Given the description of an element on the screen output the (x, y) to click on. 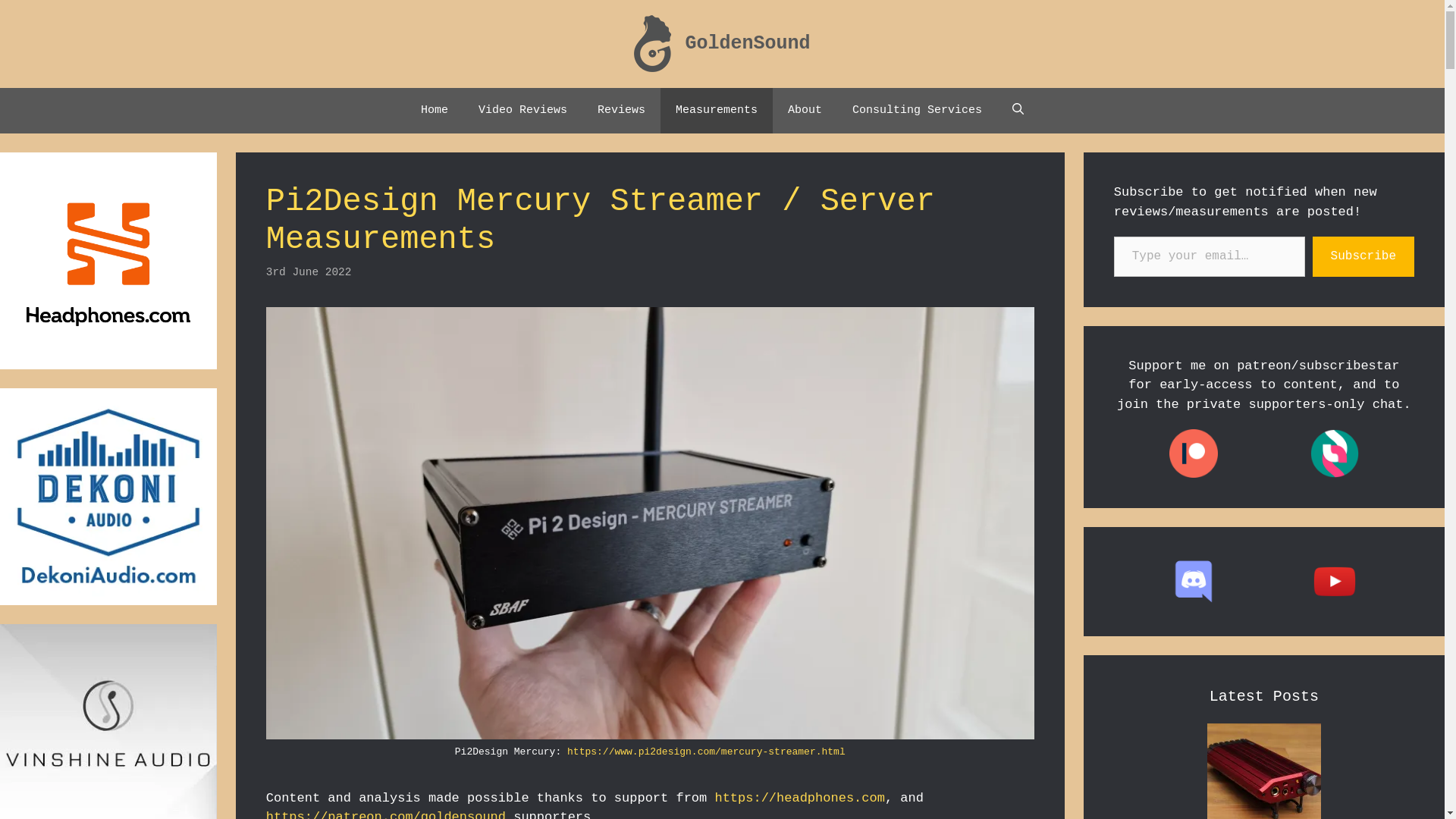
Subscribe Element type: text (1363, 256)
Home Element type: text (434, 110)
GoldenSound Element type: hover (652, 43)
About Element type: text (804, 110)
GoldenSound Element type: hover (652, 43)
Consulting Services Element type: text (917, 110)
https://www.pi2design.com/mercury-streamer.html Element type: text (706, 751)
Measurements Element type: text (716, 110)
Video Reviews Element type: text (522, 110)
GoldenSound Element type: text (746, 43)
Reviews Element type: text (621, 110)
https://headphones.com Element type: text (799, 797)
